Given the description of an element on the screen output the (x, y) to click on. 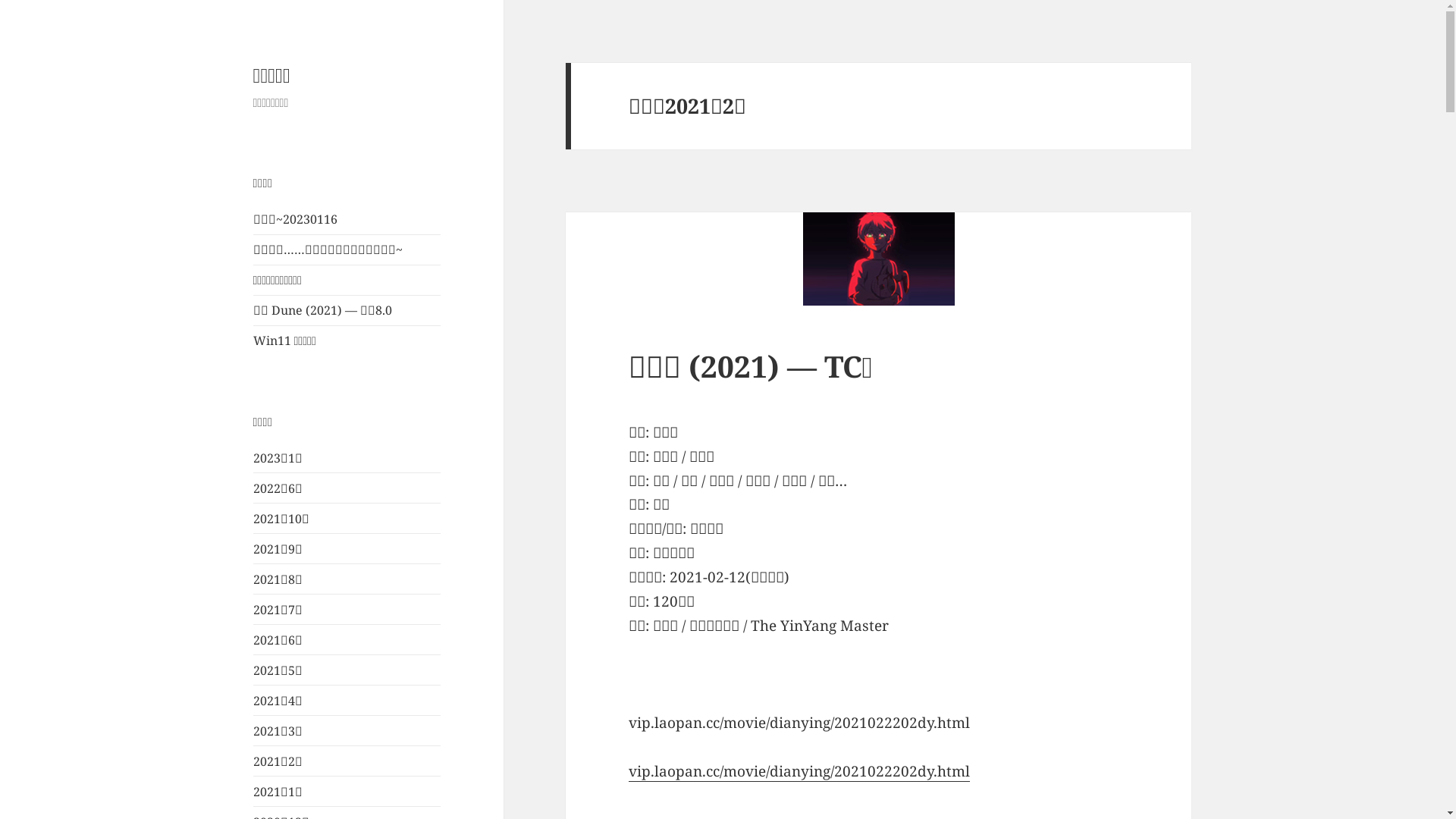
vip.laopan.cc/movie/dianying/2021022202dy.html Element type: text (798, 771)
